Given the description of an element on the screen output the (x, y) to click on. 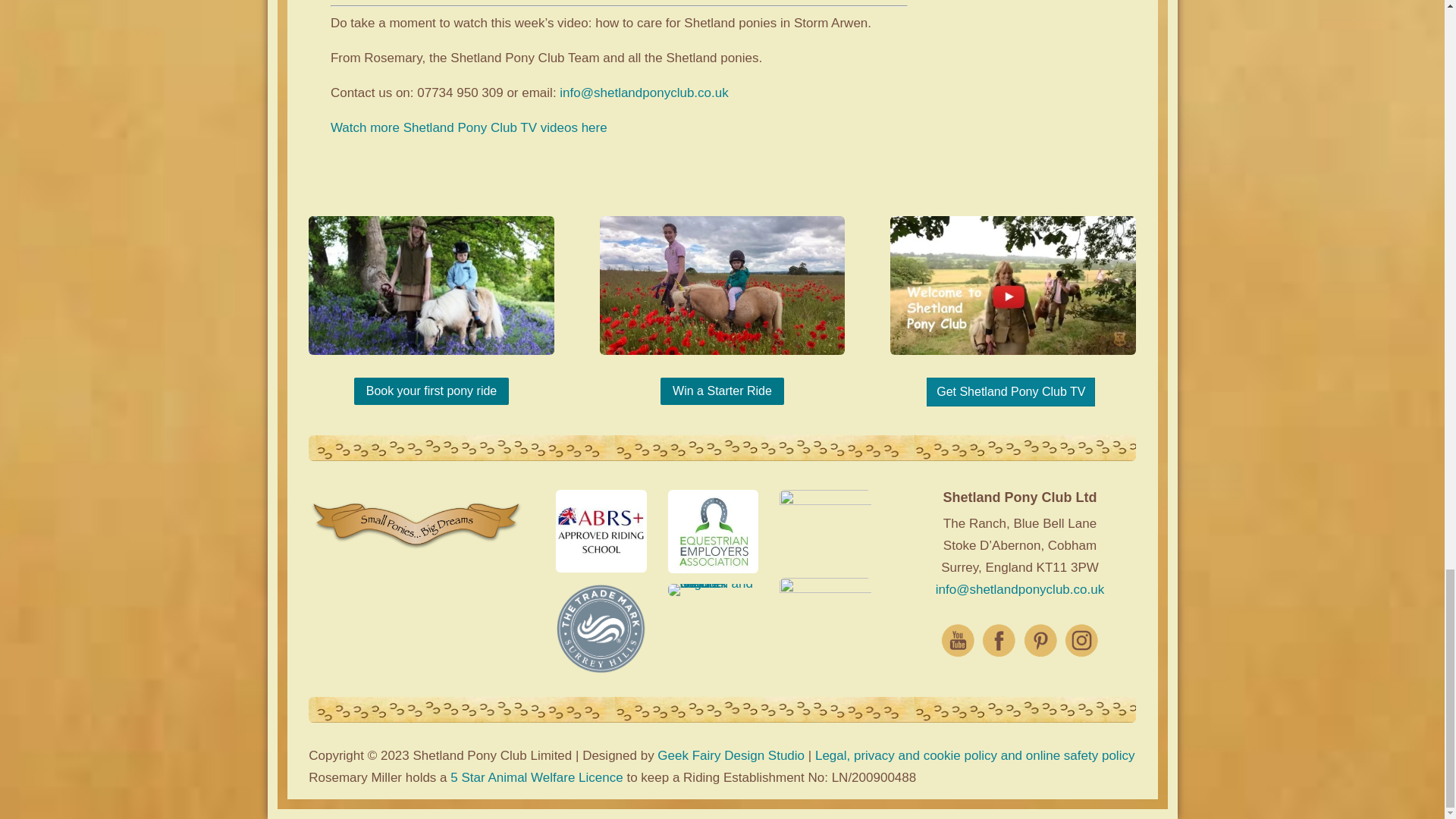
Shetland Pony Club TV (1012, 285)
Equestrian Employers Association Logo (713, 531)
ABRS-Approved Riding School - 1 (601, 530)
Win a starter ride (431, 285)
hooves-760 (721, 447)
Honeybee in the Poppies, soft saddle (722, 285)
